Given the description of an element on the screen output the (x, y) to click on. 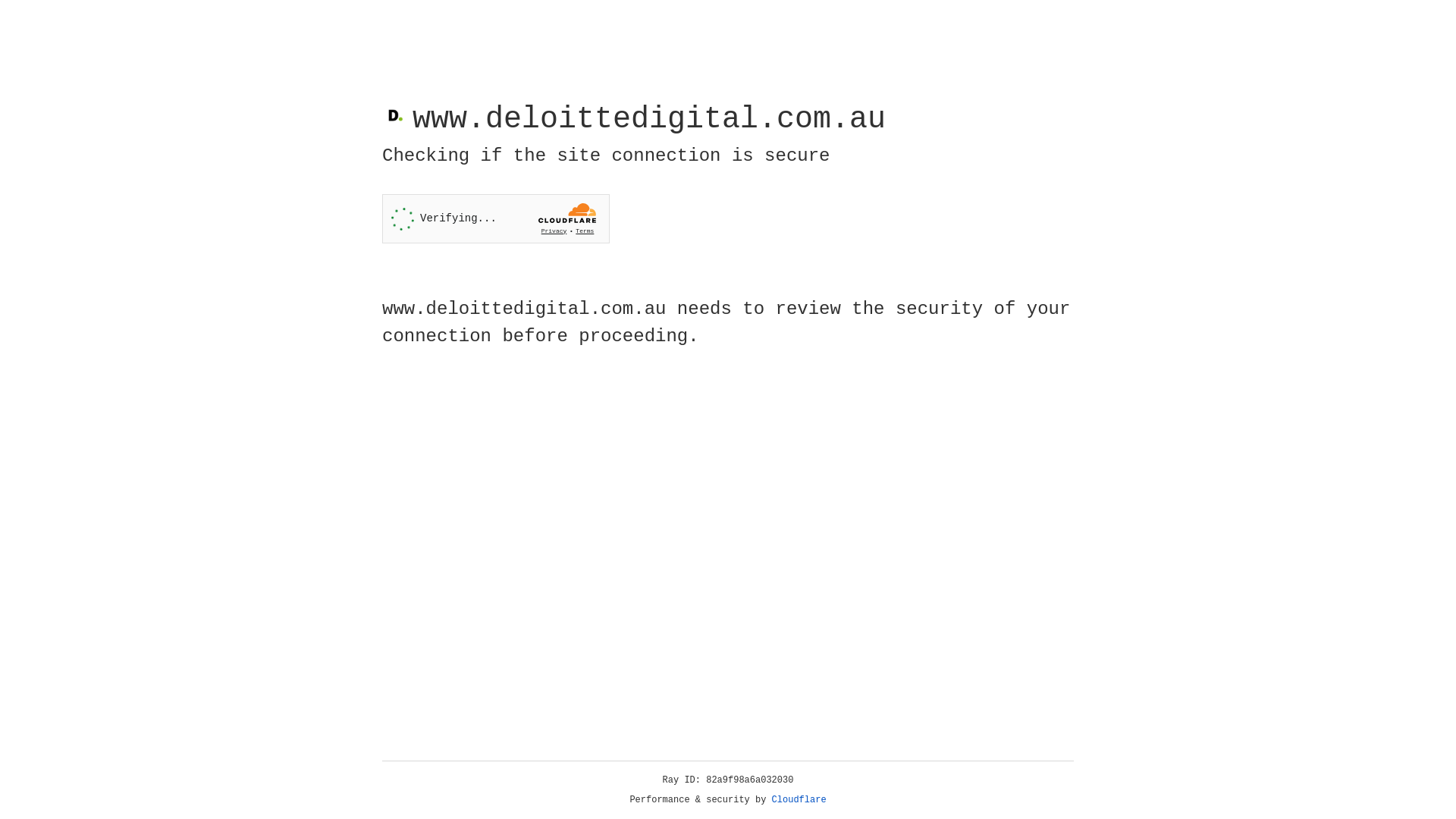
Widget containing a Cloudflare security challenge Element type: hover (495, 218)
Cloudflare Element type: text (798, 799)
